Given the description of an element on the screen output the (x, y) to click on. 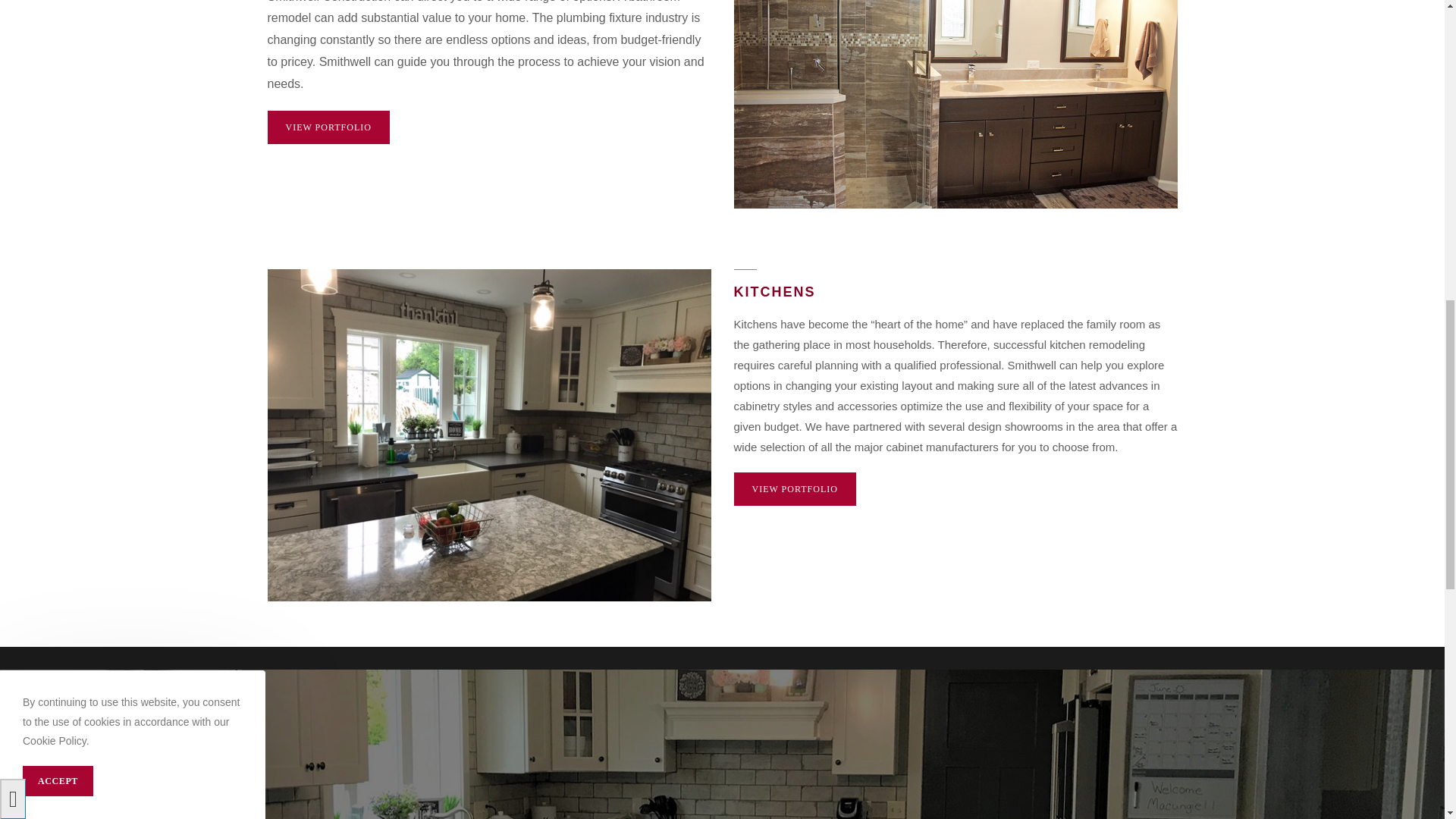
VIEW PORTFOLIO (327, 127)
VIEW PORTFOLIO (794, 488)
Remodeling 2 (955, 104)
